Given the description of an element on the screen output the (x, y) to click on. 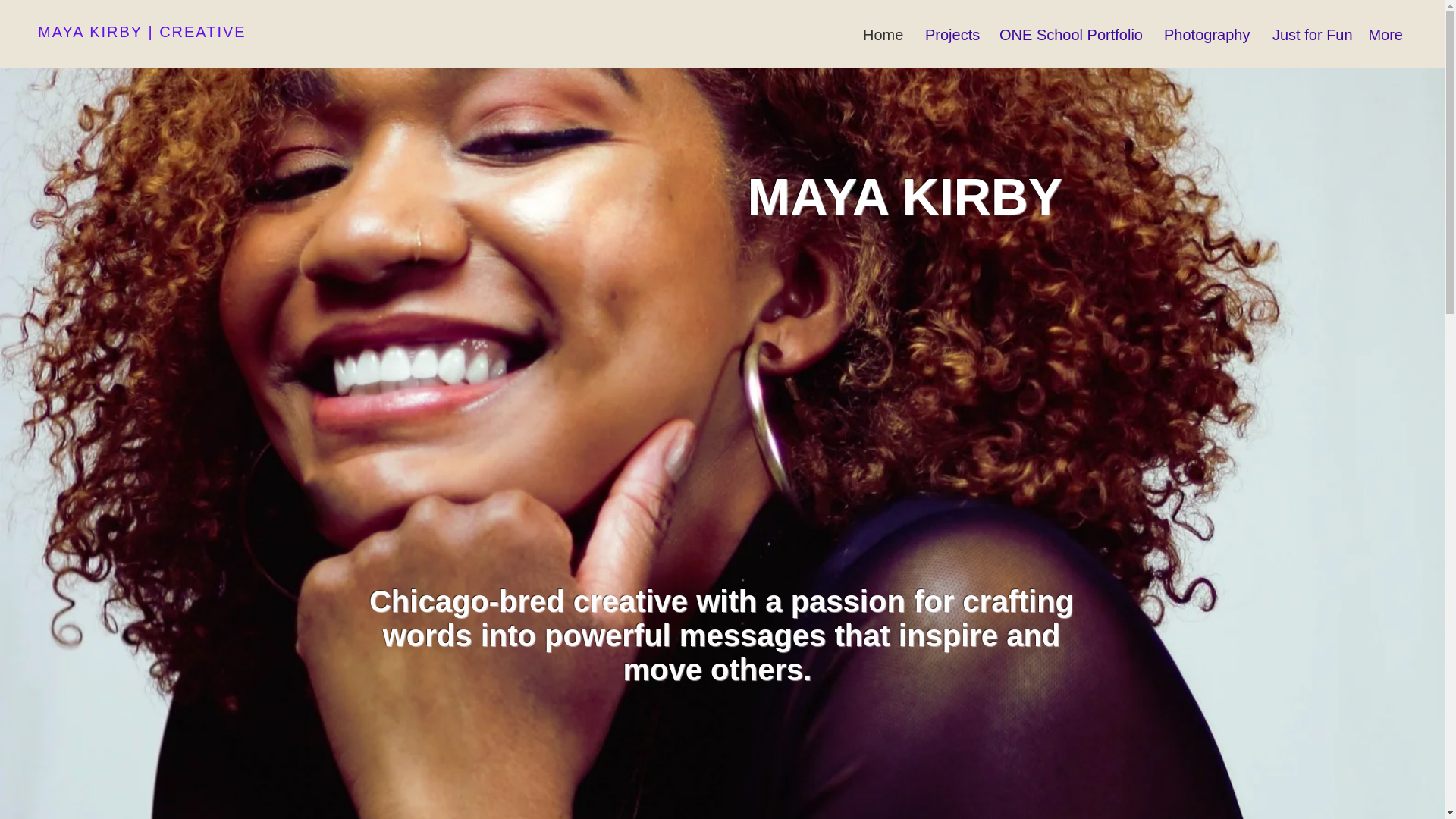
Just for Fun (1307, 32)
Projects (951, 32)
ONE School Portfolio (1070, 32)
Photography (1206, 32)
Home (882, 32)
